Given the description of an element on the screen output the (x, y) to click on. 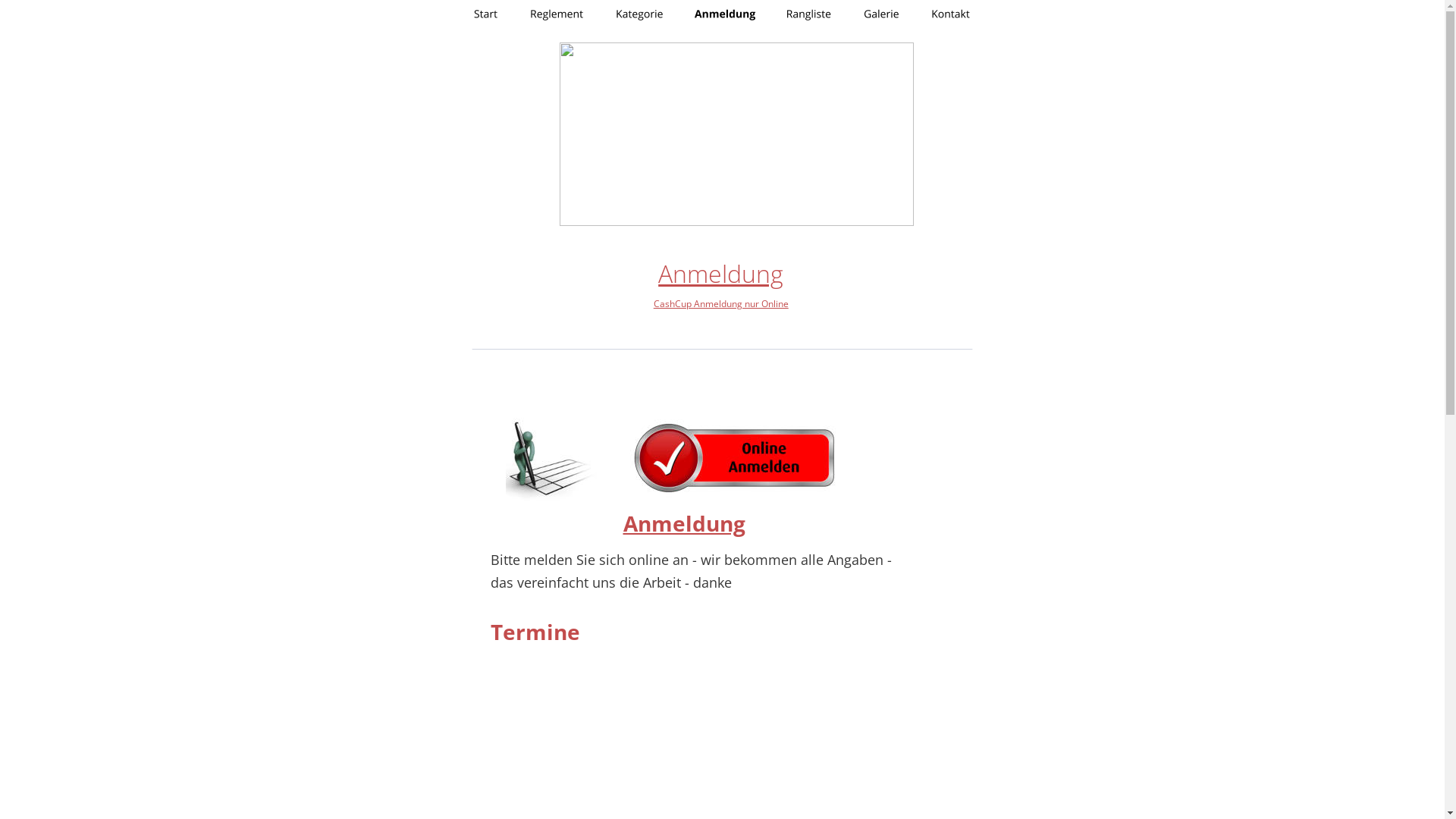
Anmeldung Element type: text (720, 273)
CashCup Anmeldung nur Online Element type: text (720, 303)
Anmeldung Element type: text (684, 523)
